Given the description of an element on the screen output the (x, y) to click on. 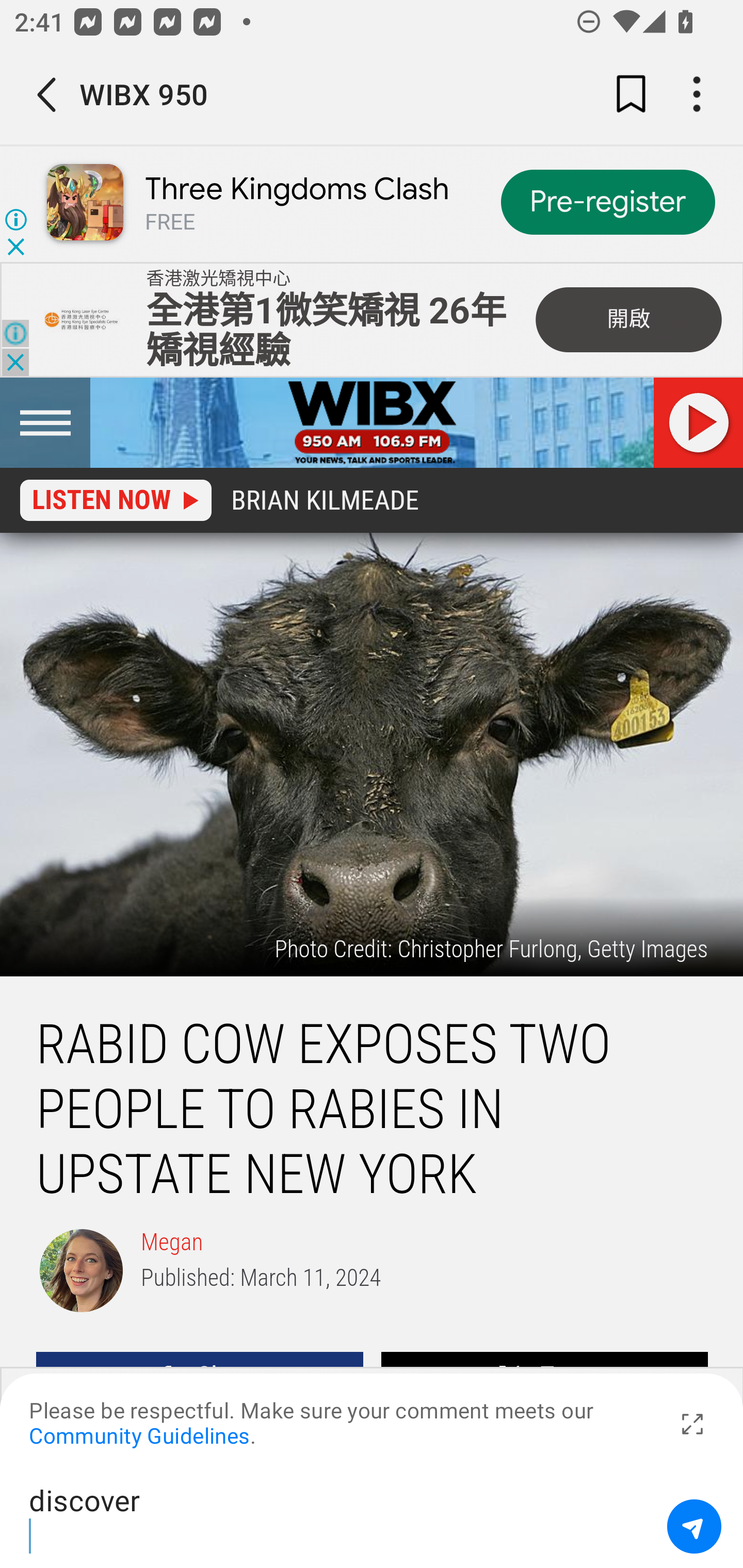
discover
 (340, 1516)
